Given the description of an element on the screen output the (x, y) to click on. 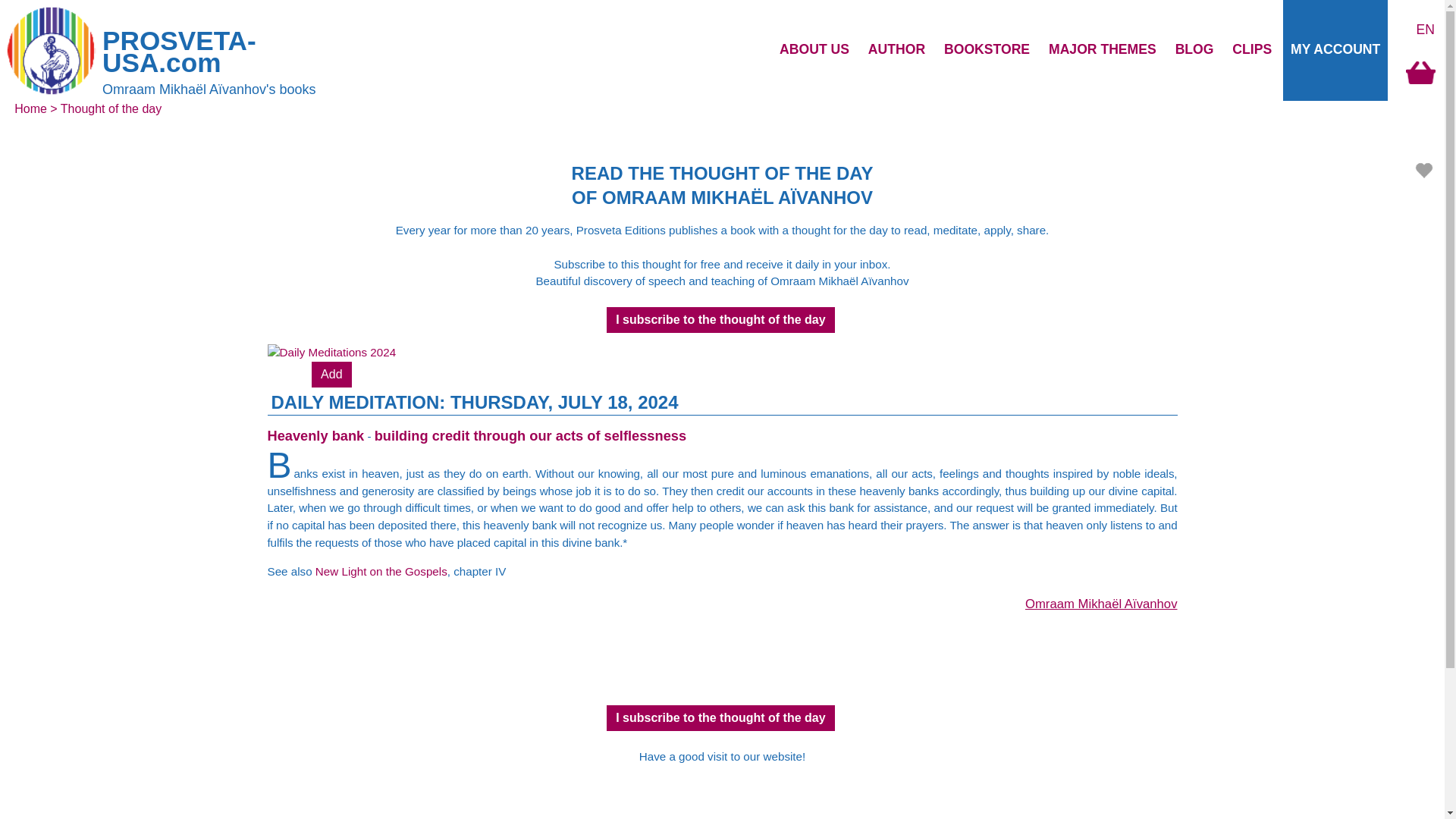
MY ACCOUNT (1334, 49)
I subscribe to the thought of the day (720, 319)
BOOKSTORE (986, 49)
CLIPS (1251, 49)
BLOG (1194, 49)
MAJOR THEMES (1101, 49)
I subscribe to the thought of the day (720, 718)
Daily Meditations 2024 (331, 352)
New Light on the Gospels (380, 571)
ABOUT US (813, 49)
Add (330, 374)
New Light on the Gospels (380, 571)
Home (30, 108)
AUTHOR (896, 49)
